Given the description of an element on the screen output the (x, y) to click on. 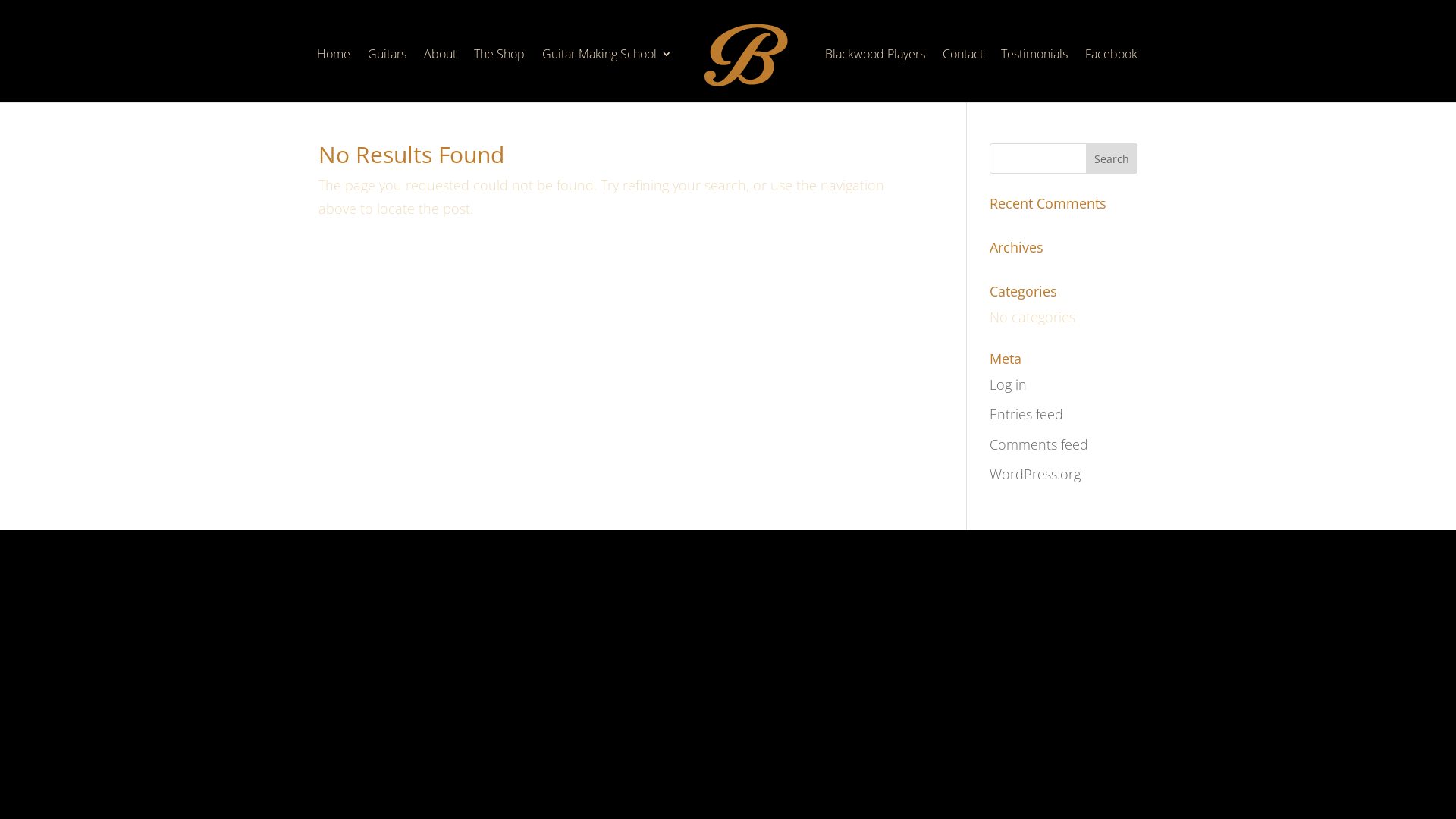
Log in Element type: text (1007, 384)
WordPress.org Element type: text (1034, 473)
Guitars Element type: text (386, 75)
Home Element type: text (333, 75)
Entries feed Element type: text (1026, 413)
The Shop Element type: text (498, 75)
About Element type: text (439, 75)
Contact Element type: text (962, 75)
Blackwood Players Element type: text (875, 75)
Guitar Making School Element type: text (606, 75)
Testimonials Element type: text (1034, 75)
Comments feed Element type: text (1038, 444)
Facebook Element type: text (1111, 75)
Search Element type: text (1111, 158)
